Given the description of an element on the screen output the (x, y) to click on. 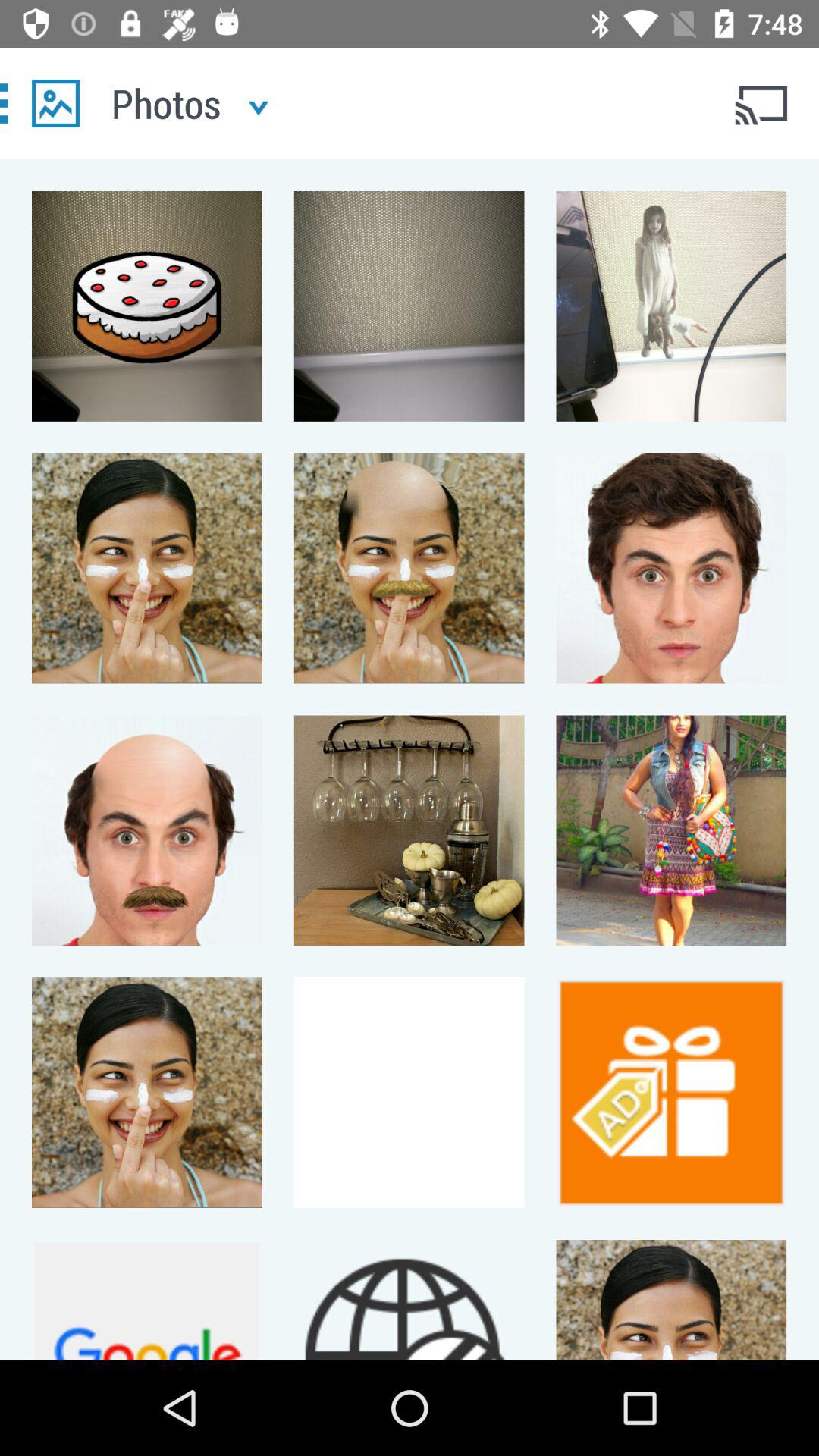
toggle the menu (55, 103)
